Given the description of an element on the screen output the (x, y) to click on. 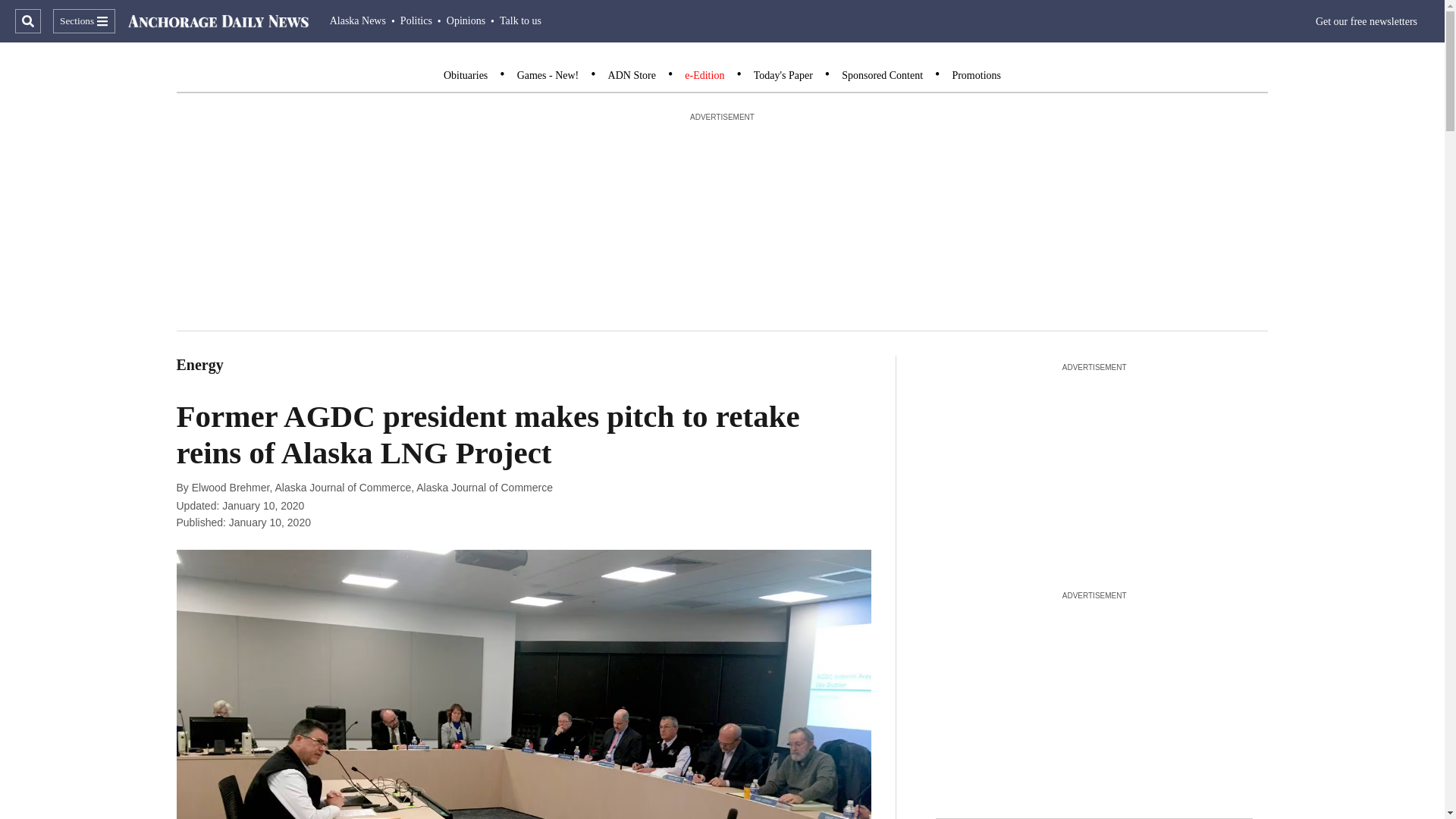
ADN Logo (218, 20)
Politics (416, 20)
Sections (83, 21)
Alaska News (357, 20)
Get our free newsletters (1366, 21)
Opinions (465, 20)
